Given the description of an element on the screen output the (x, y) to click on. 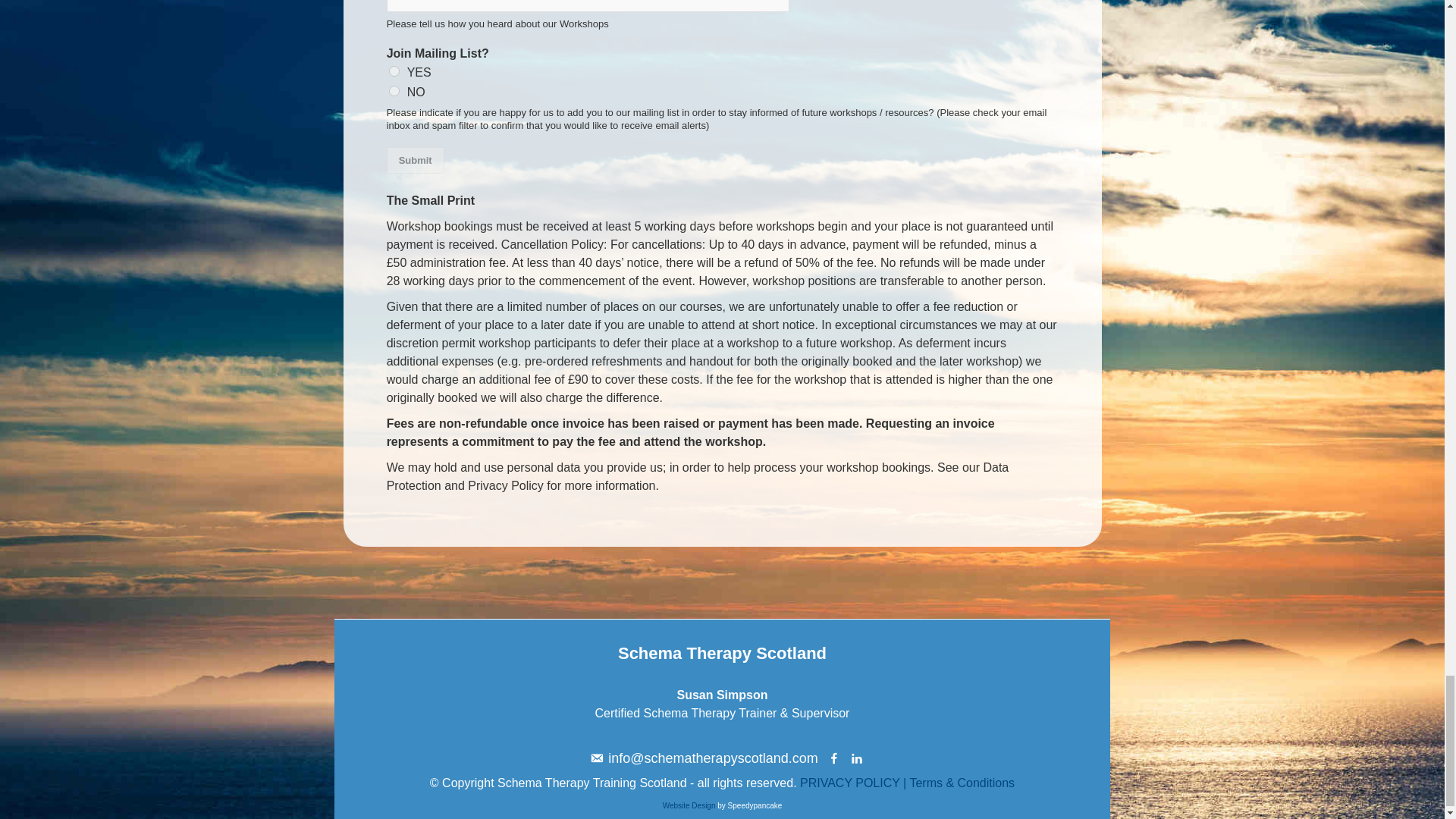
Submit (415, 160)
Website Design (689, 805)
